Given the description of an element on the screen output the (x, y) to click on. 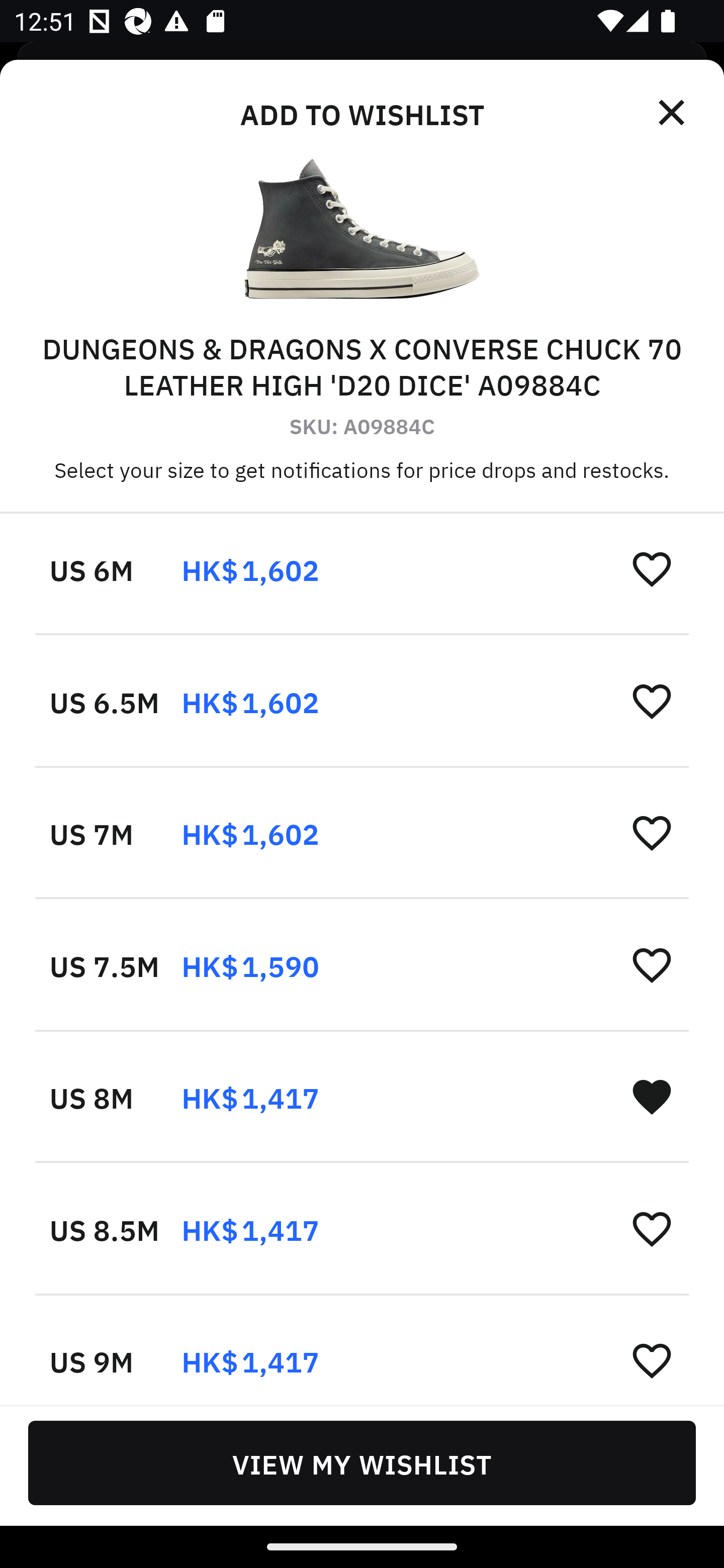
 (672, 112)
󰋕 (651, 568)
󰋕 (651, 700)
󰋕 (651, 832)
󰋕 (651, 964)
󰋑 (651, 1096)
󰋕 (651, 1228)
󰋕 (651, 1359)
VIEW MY WISHLIST (361, 1462)
